Given the description of an element on the screen output the (x, y) to click on. 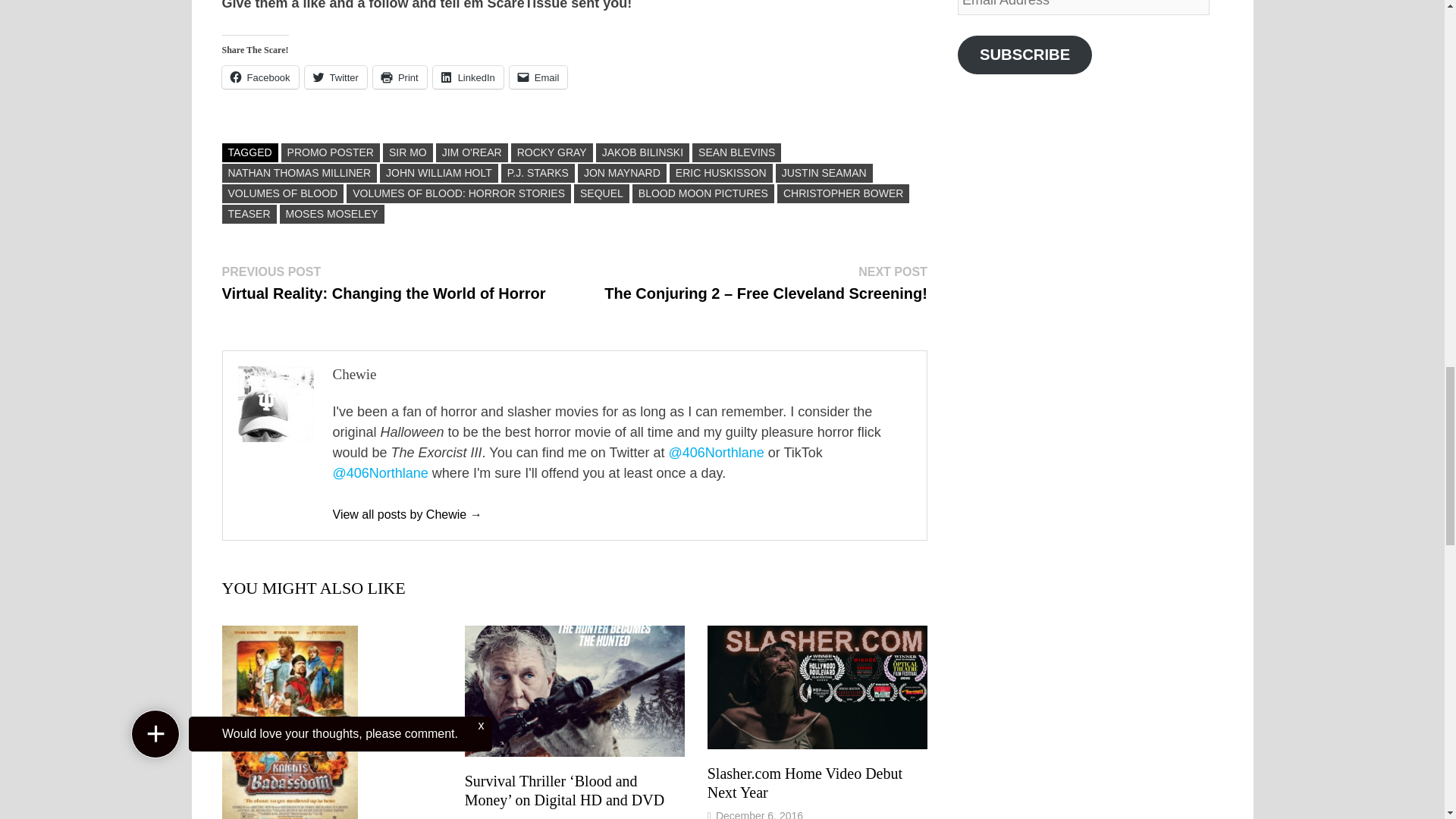
Chewie (406, 513)
Click to share on LinkedIn (467, 77)
Click to print (399, 77)
Click to share on Twitter (335, 77)
Click to share on Facebook (259, 77)
Click to email a link to a friend (538, 77)
